Given the description of an element on the screen output the (x, y) to click on. 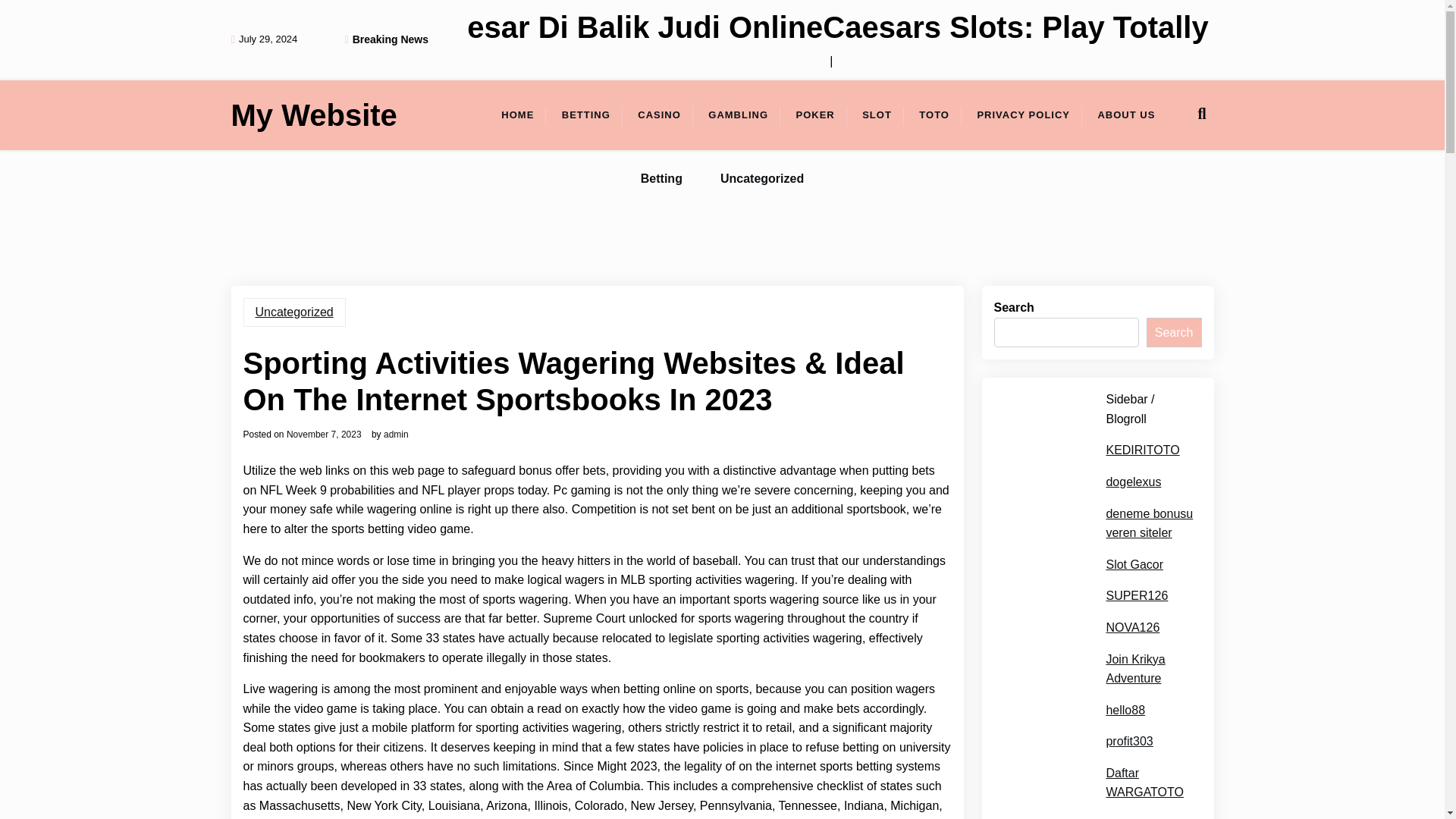
Uncategorized (762, 178)
admin (396, 433)
Search (1174, 332)
SLOT (877, 115)
Betting (661, 178)
PRIVACY POLICY (1022, 115)
ABOUT US (1125, 115)
KEDIRITOTO (1142, 450)
My Website (313, 115)
Uncategorized (294, 312)
deneme bonusu veren siteler (1148, 523)
HOME (517, 115)
November 7, 2023 (323, 433)
dogelexus (1132, 482)
CASINO (659, 115)
